Given the description of an element on the screen output the (x, y) to click on. 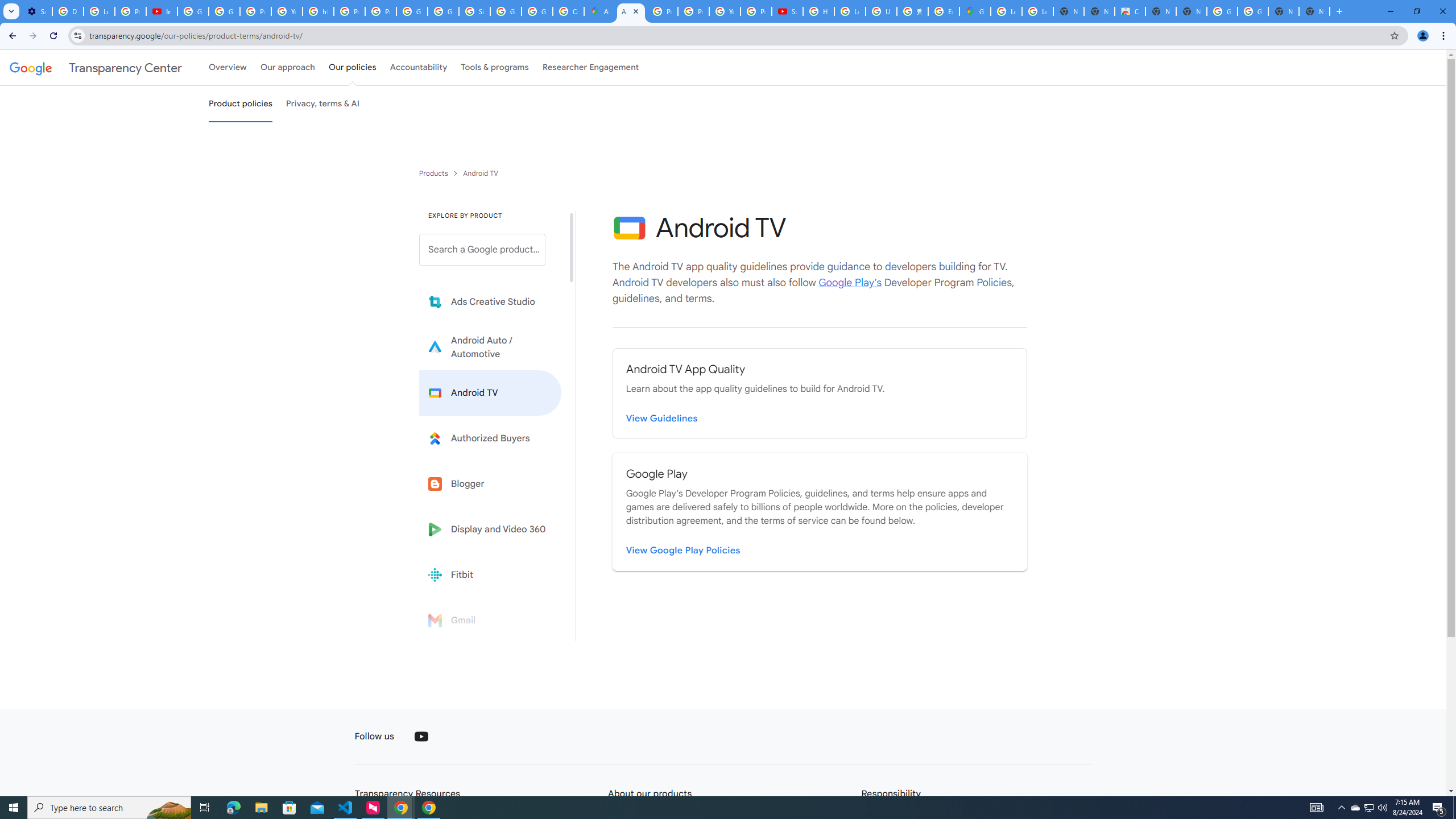
Tools & programs (494, 67)
YouTube (421, 736)
Display and Video 360 (490, 529)
Google Account Help (192, 11)
View Guidelines (661, 418)
Display and Video 360 (490, 529)
Explore new street-level details - Google Maps Help (943, 11)
